Given the description of an element on the screen output the (x, y) to click on. 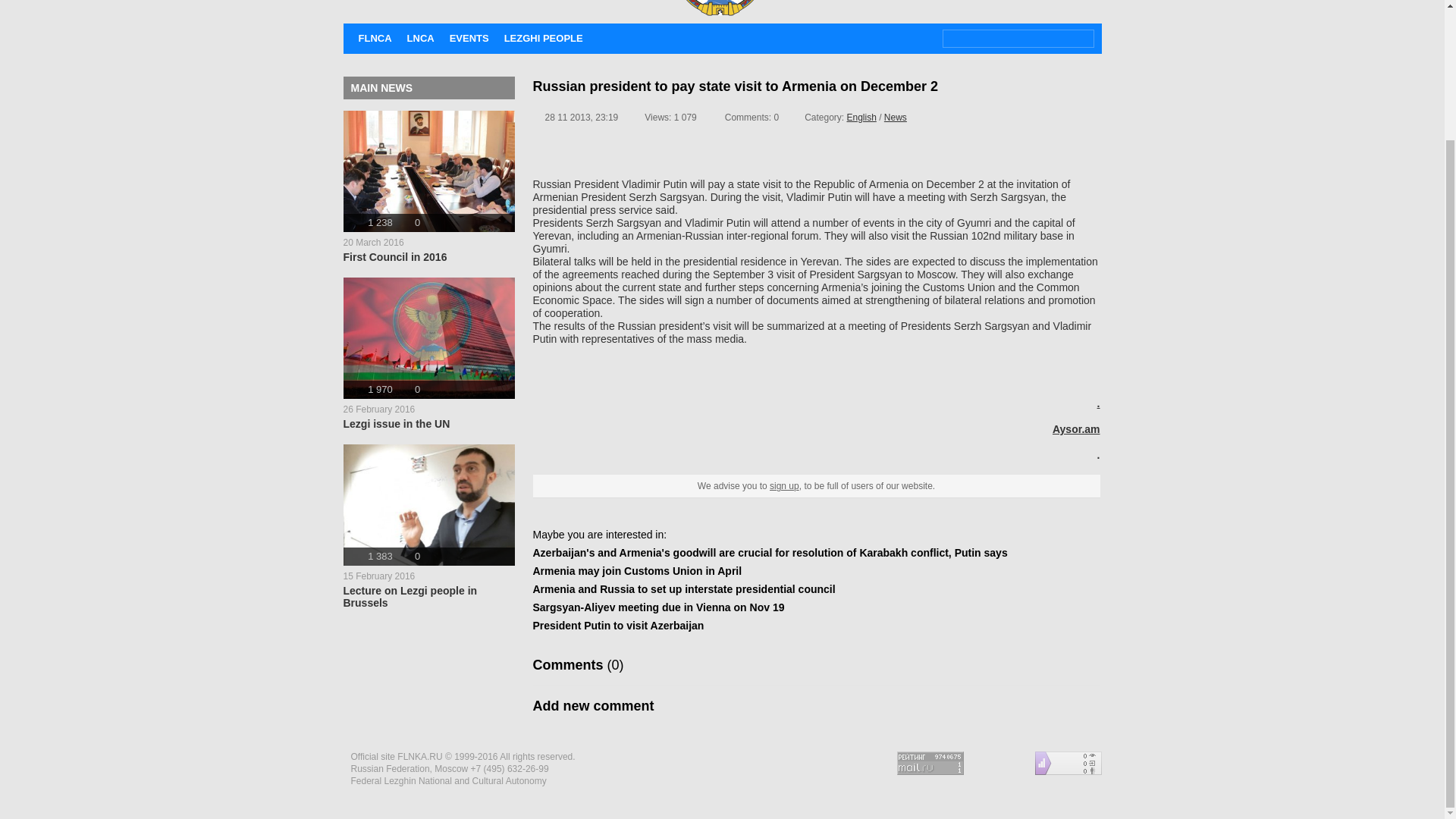
sign up (427, 526)
Sargsyan-Aliyev meeting due in Vienna on Nov 19 (784, 485)
LNCA (427, 353)
News (427, 186)
English (658, 607)
Armenia and Russia to set up interstate presidential council (420, 38)
Add new comment (895, 117)
LEZGHI PEOPLE (860, 117)
EVENTS (683, 589)
Aysor.am (592, 705)
FLNCA (543, 38)
